Given the description of an element on the screen output the (x, y) to click on. 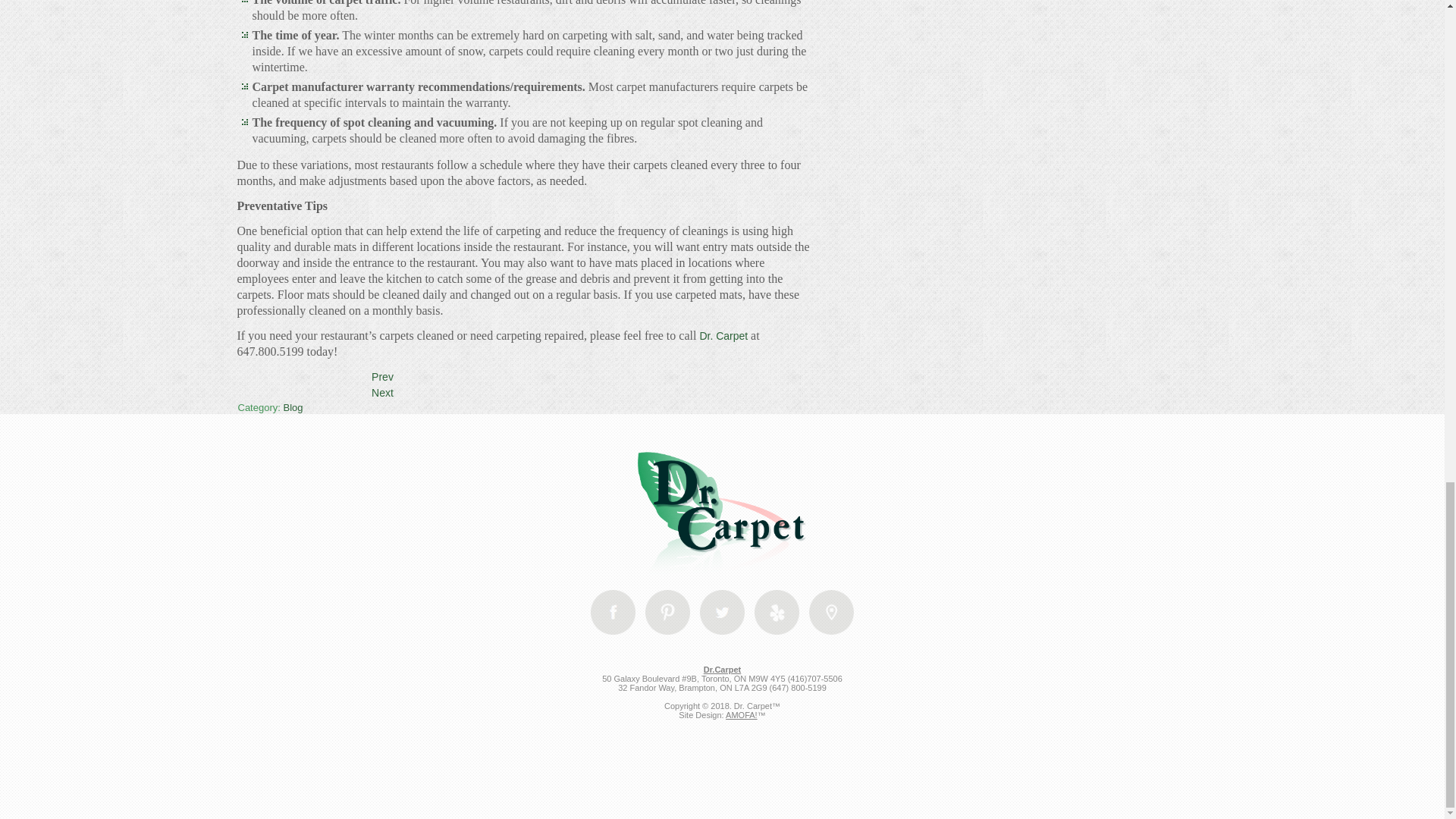
AMOFA! (741, 714)
Next (382, 392)
Prev (382, 377)
London Escorts (776, 611)
Dr. Carpet (724, 336)
Blog (292, 407)
toronto search engine optimization companies (721, 795)
